Given the description of an element on the screen output the (x, y) to click on. 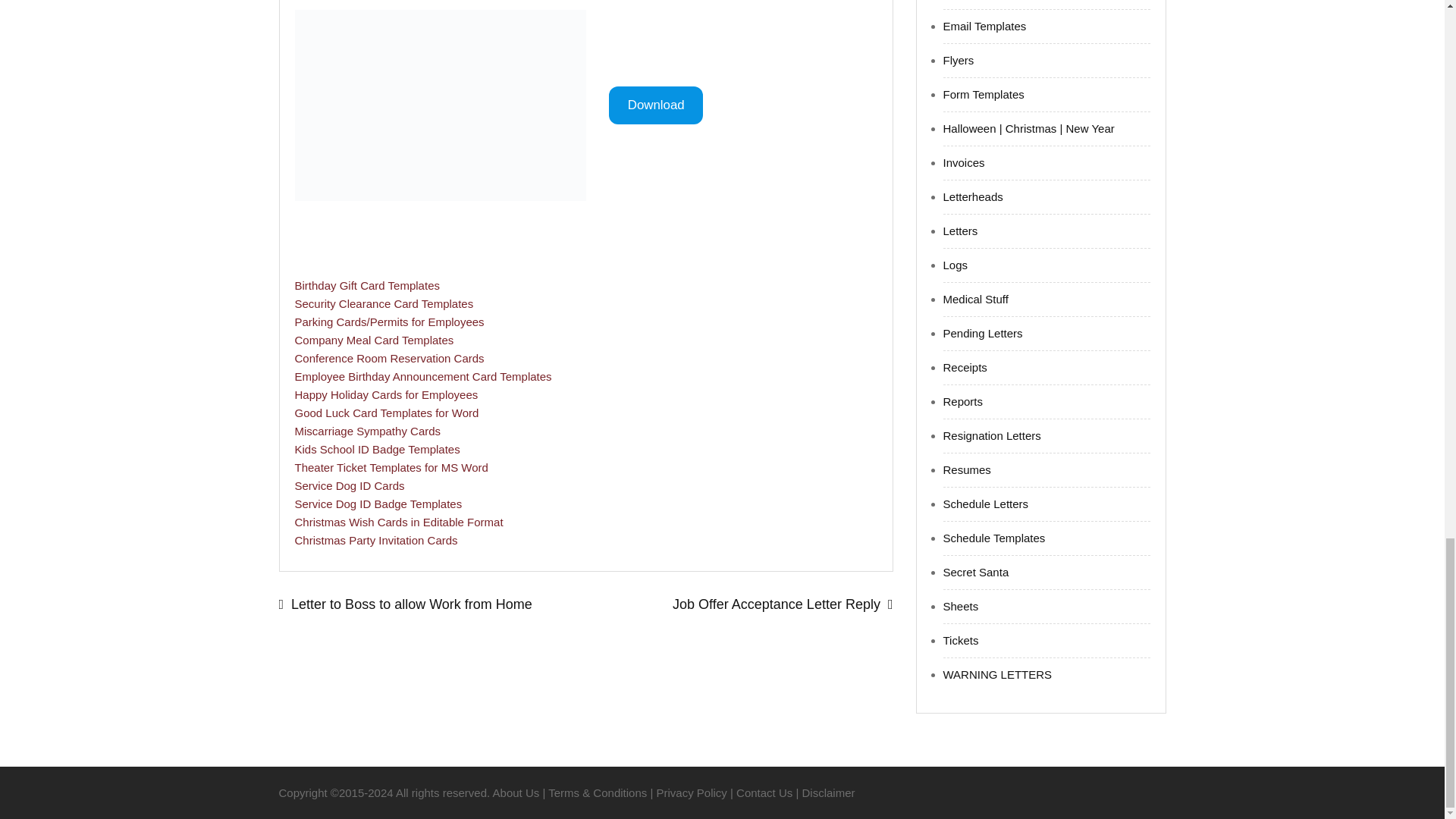
Miscarriage Sympathy Cards (367, 431)
Employee Birthday Announcement Card Templates (422, 376)
Happy Holiday Cards for Employees (385, 394)
Birthday Gift Card Templates (366, 285)
Kids School ID Badge Templates (377, 449)
Company Meal Card Templates (373, 339)
Download (655, 105)
Conference Room Reservation Cards (388, 358)
Service Dog ID Badge Templates (377, 503)
Christmas Wish Cards in Editable Format (398, 521)
Letter to Boss to allow Work from Home (432, 605)
Theater Ticket Templates for MS Word (390, 467)
Job Offer Acceptance Letter Reply (738, 605)
Christmas Party Invitation Cards (375, 540)
Security Clearance Card Templates (383, 303)
